Given the description of an element on the screen output the (x, y) to click on. 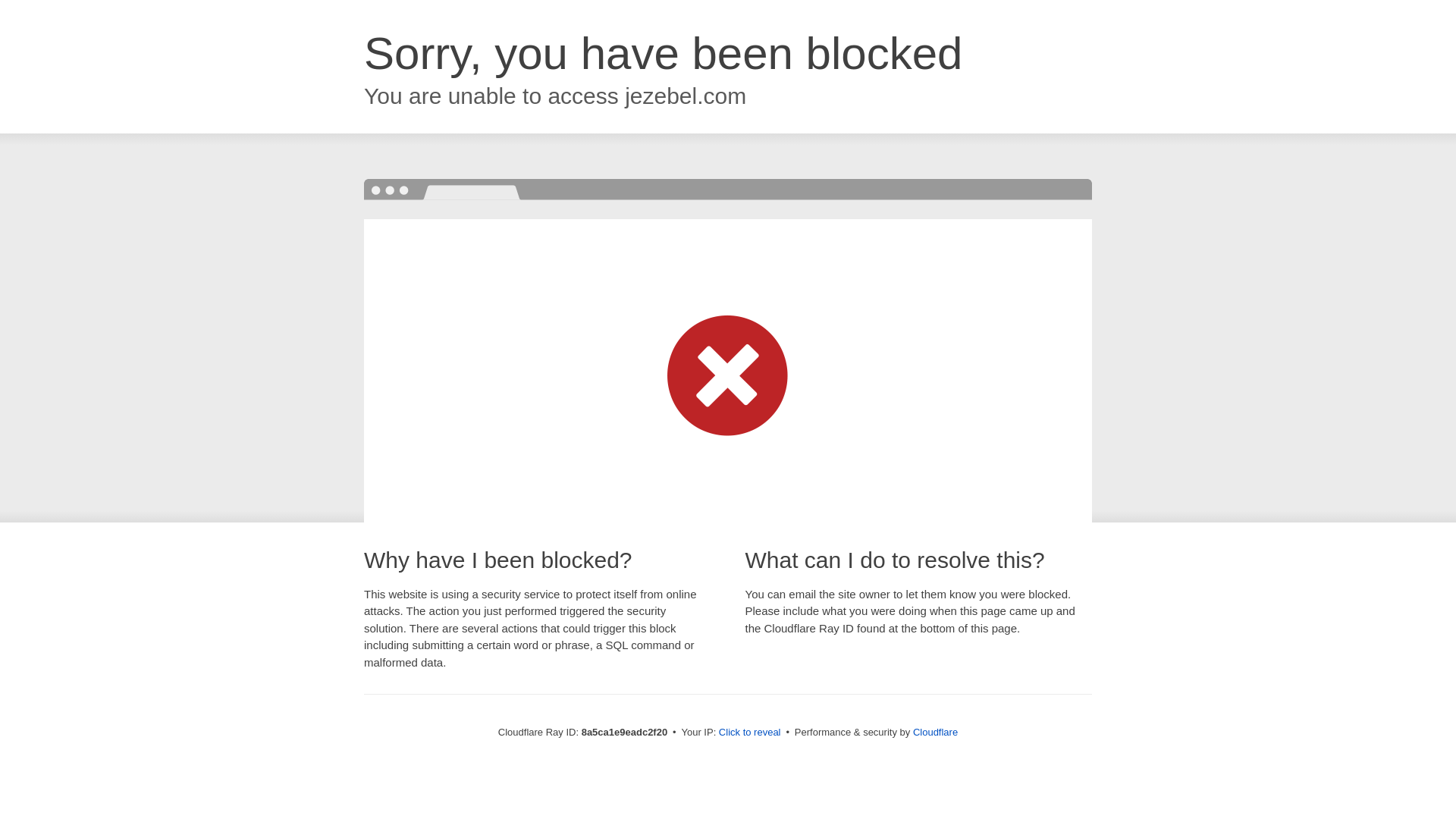
Cloudflare (935, 731)
Click to reveal (749, 732)
